Given the description of an element on the screen output the (x, y) to click on. 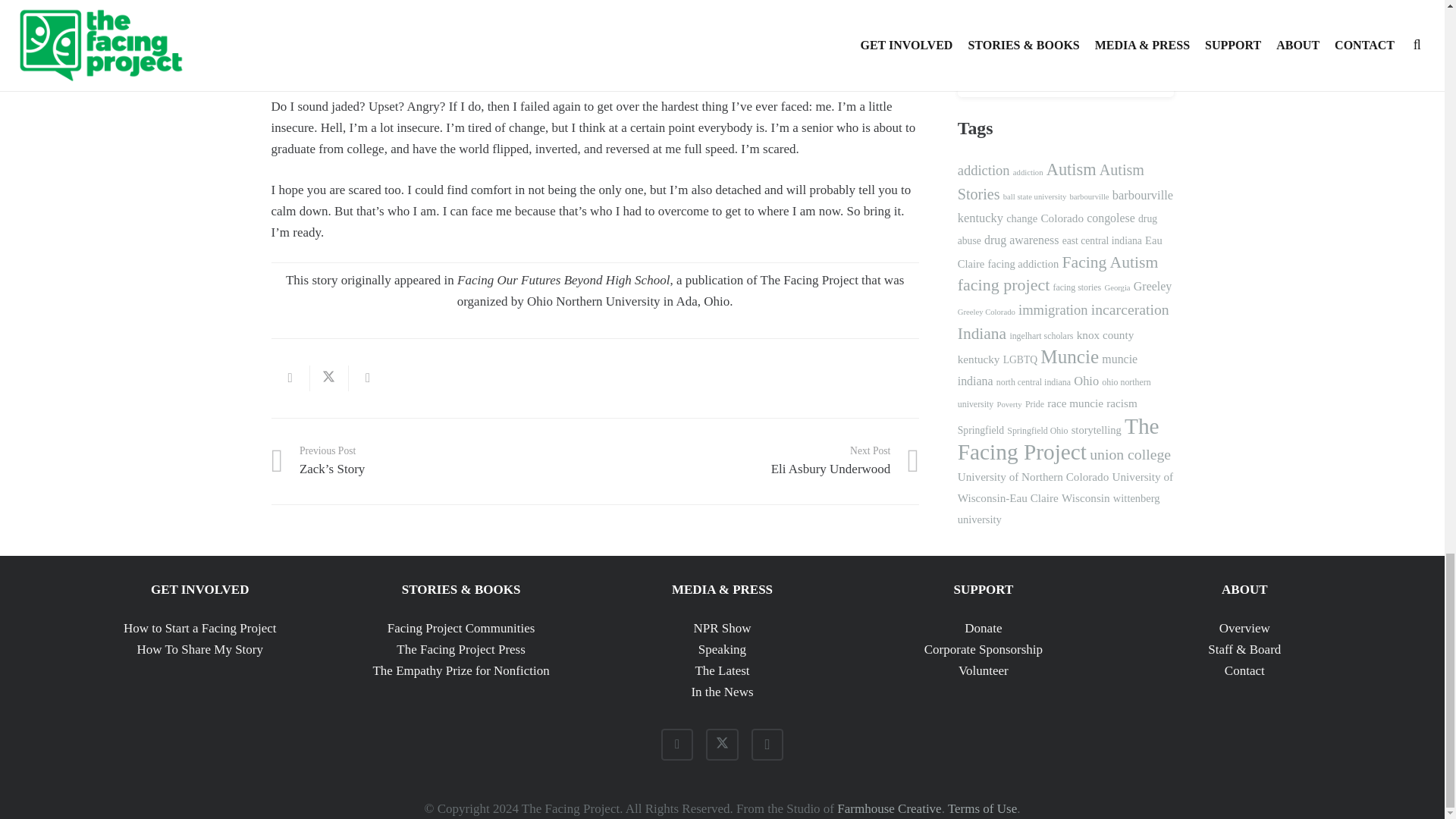
Eli Asbury Underwood (756, 460)
In the News (721, 691)
Speaking (721, 649)
Share this (290, 378)
How to Start a Facing Project (199, 627)
News (721, 670)
NPR Podcast (756, 460)
The Facing Project Press (722, 627)
How To Share My Story (460, 649)
